Given the description of an element on the screen output the (x, y) to click on. 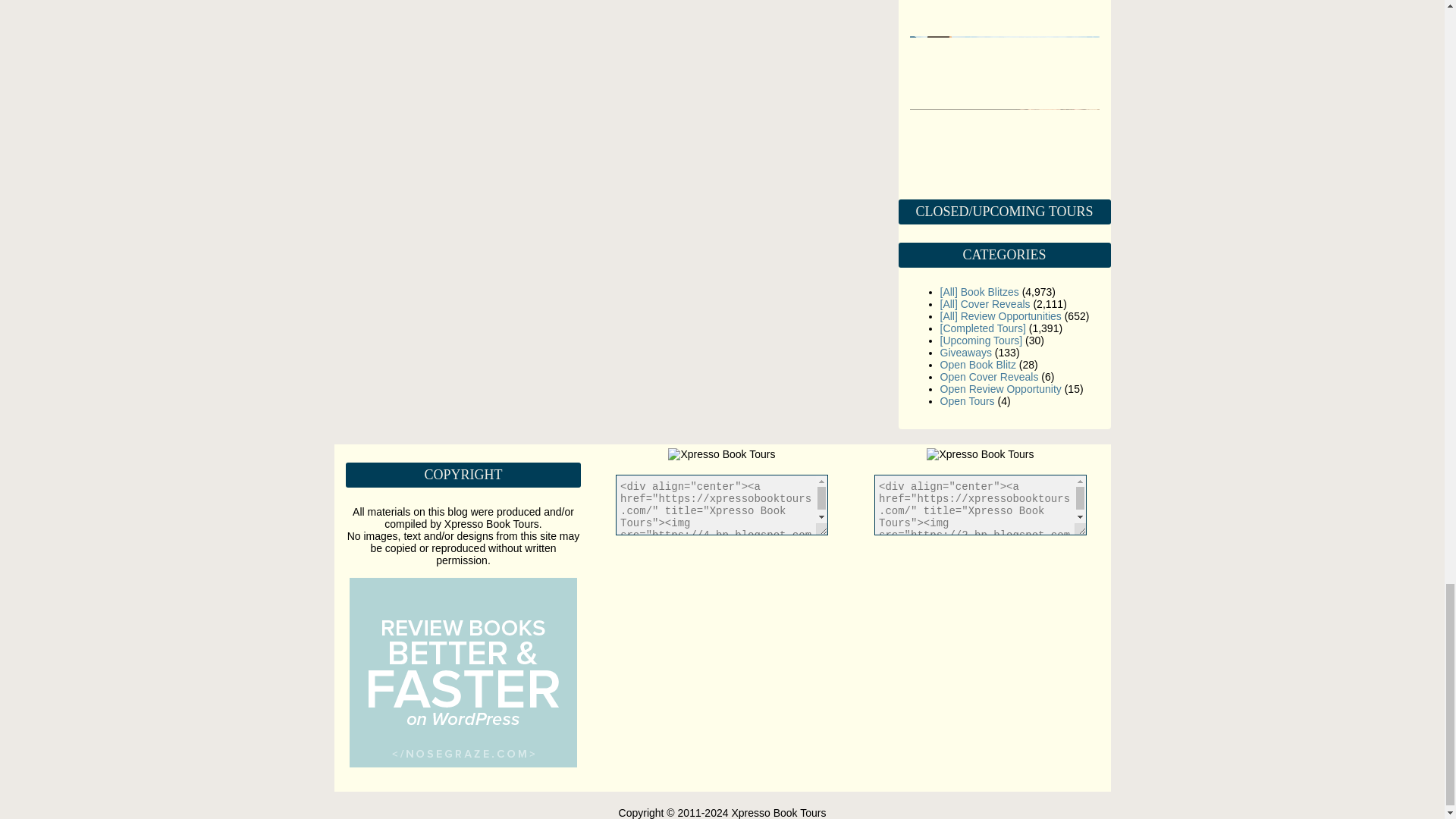
Xpresso Book Tours (979, 453)
View all posts filed under Open Book Blitz (978, 364)
Review books better and faster on WordPress (462, 763)
View all posts filed under Open Cover Reveals (989, 377)
View all posts filed under Open Tours (967, 400)
View all posts filed under Giveaways (965, 352)
View all posts filed under Open Review Opportunity (1000, 388)
Xpresso Book Tours (721, 453)
